Given the description of an element on the screen output the (x, y) to click on. 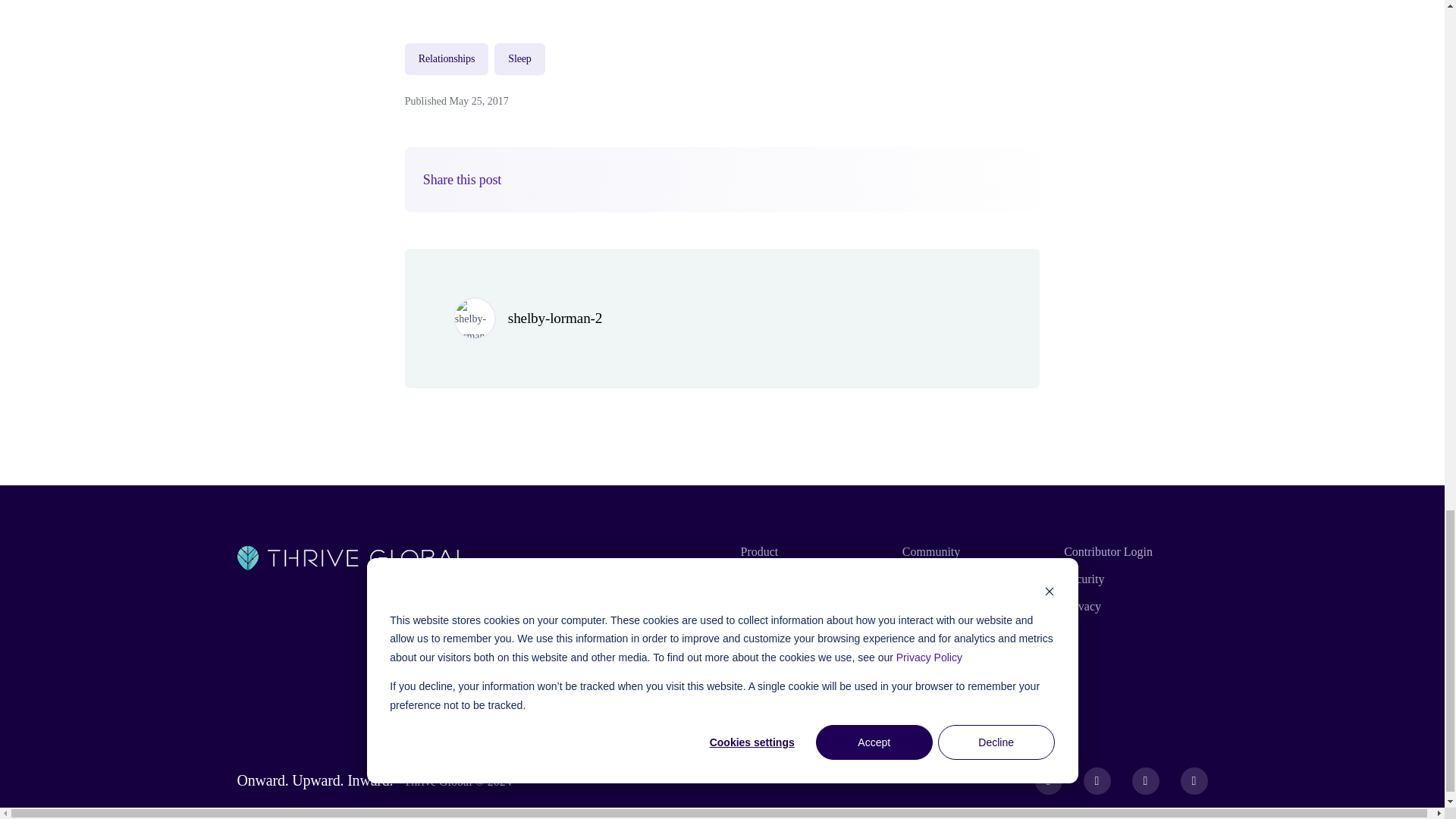
shelby-lorman-2 (555, 317)
Facebook (1048, 780)
Instagram (1145, 780)
Twitter (1096, 780)
LinkedIn (1194, 780)
